Given the description of an element on the screen output the (x, y) to click on. 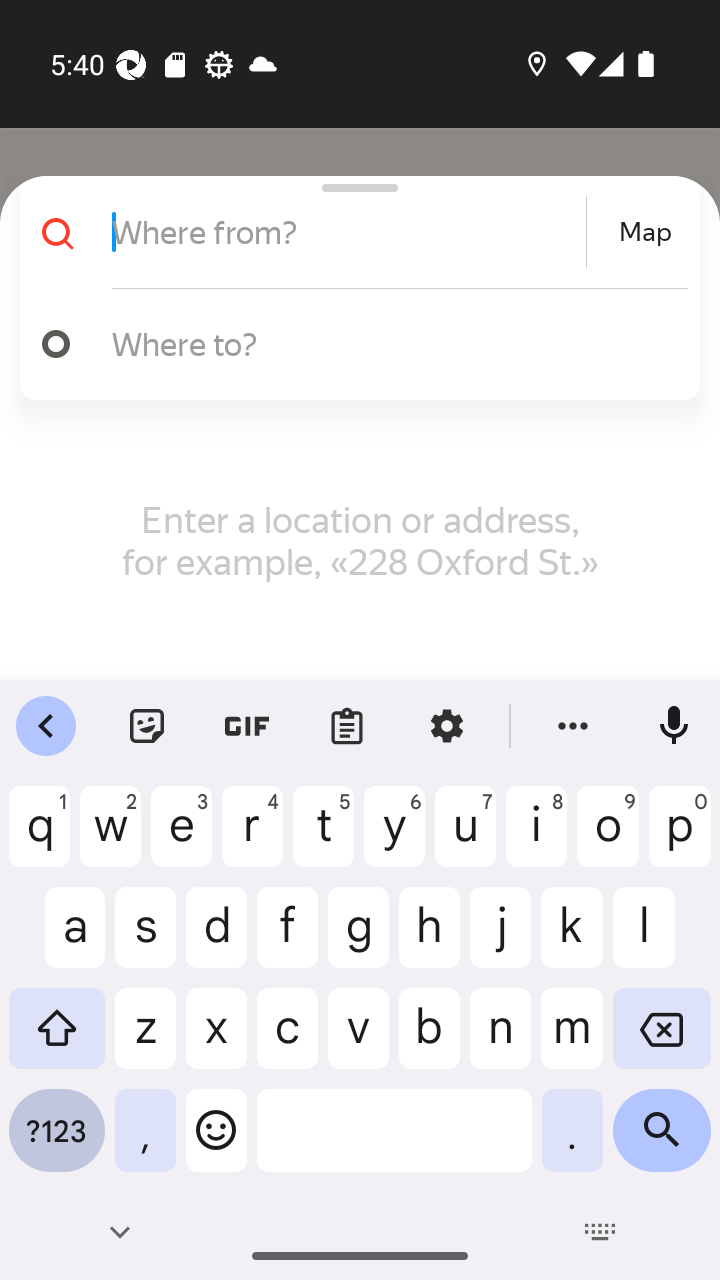
Where from? Map Map (352, 232)
Map (645, 232)
Where from? (346, 232)
Where to? (352, 343)
Where to? (390, 343)
